Given the description of an element on the screen output the (x, y) to click on. 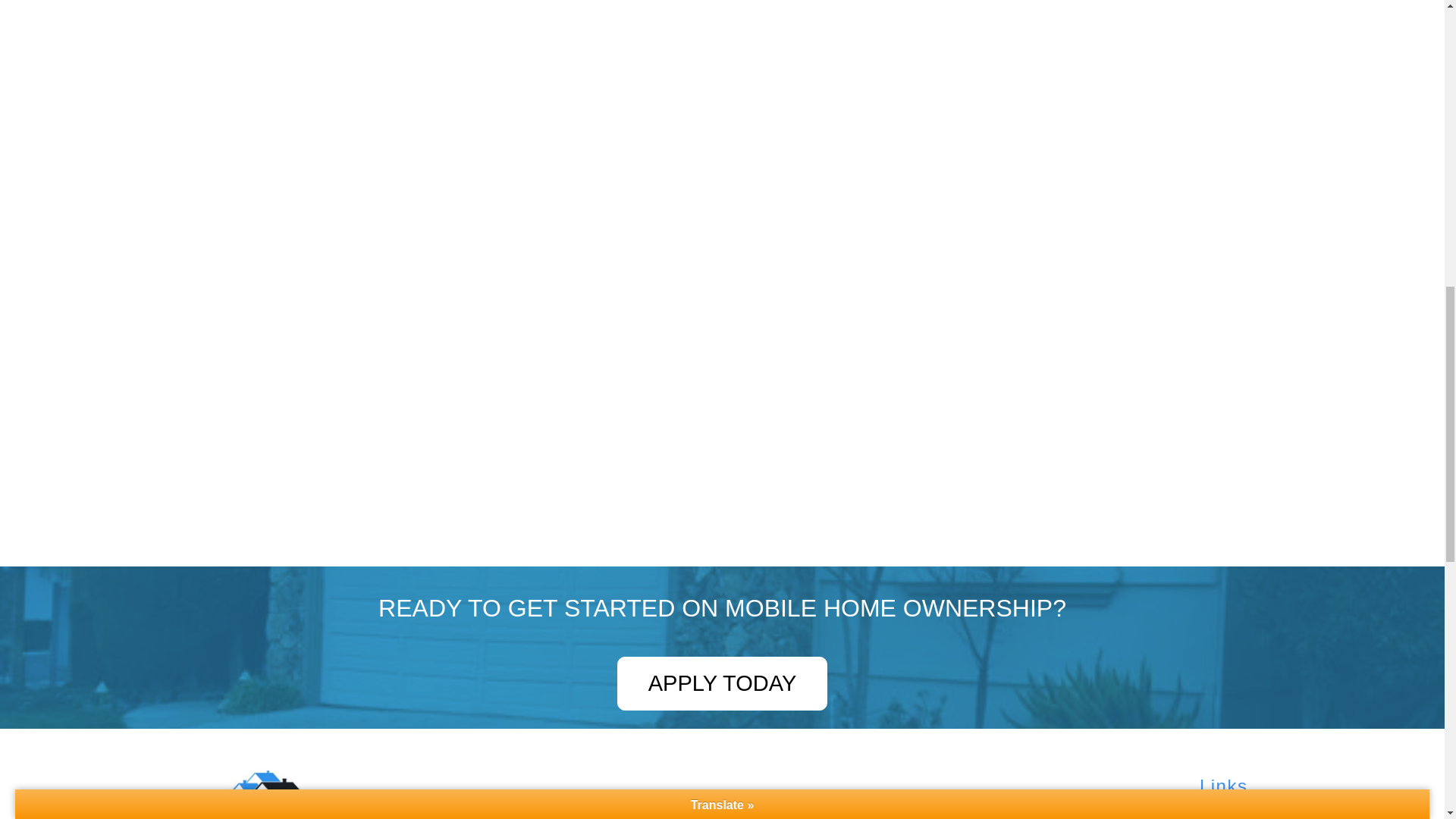
APPLY TODAY (722, 683)
mobile-home-loans-arizona-logo.jpg (265, 793)
Home (1223, 814)
